Given the description of an element on the screen output the (x, y) to click on. 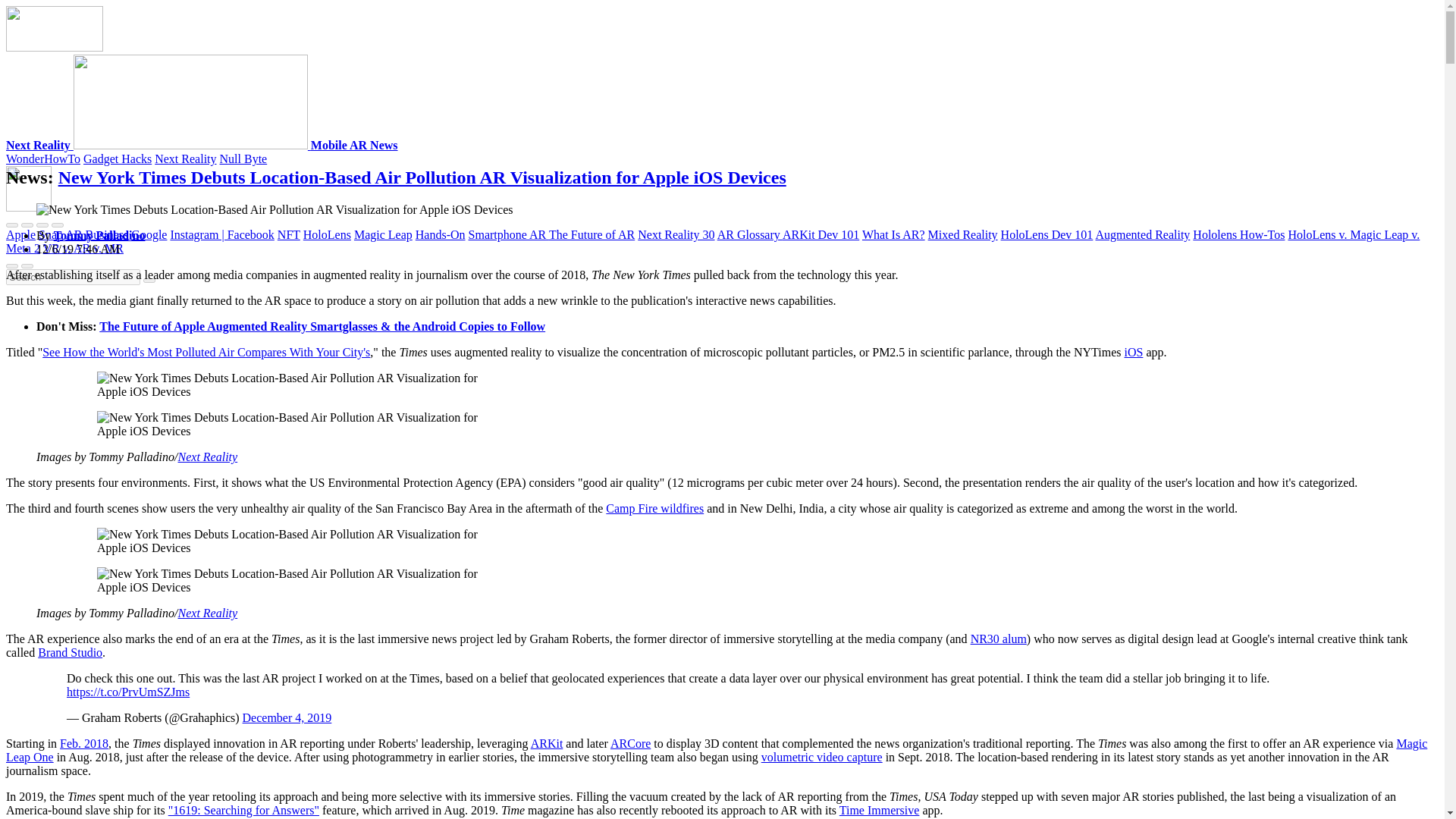
Mobile AR News (354, 144)
Hands-On (439, 234)
Tommy Palladino (99, 235)
Snap (50, 234)
Next Reality (158, 144)
Next Reality 30 (675, 234)
Bringing the impossible worlds of our imagination to life. (354, 144)
VR v. AR v. MR (83, 247)
HoloLens Dev 101 (1047, 234)
WonderHowTo (42, 158)
Google (149, 234)
Hololens How-Tos (1238, 234)
ARKit Dev 101 (821, 234)
HoloLens (326, 234)
